Given the description of an element on the screen output the (x, y) to click on. 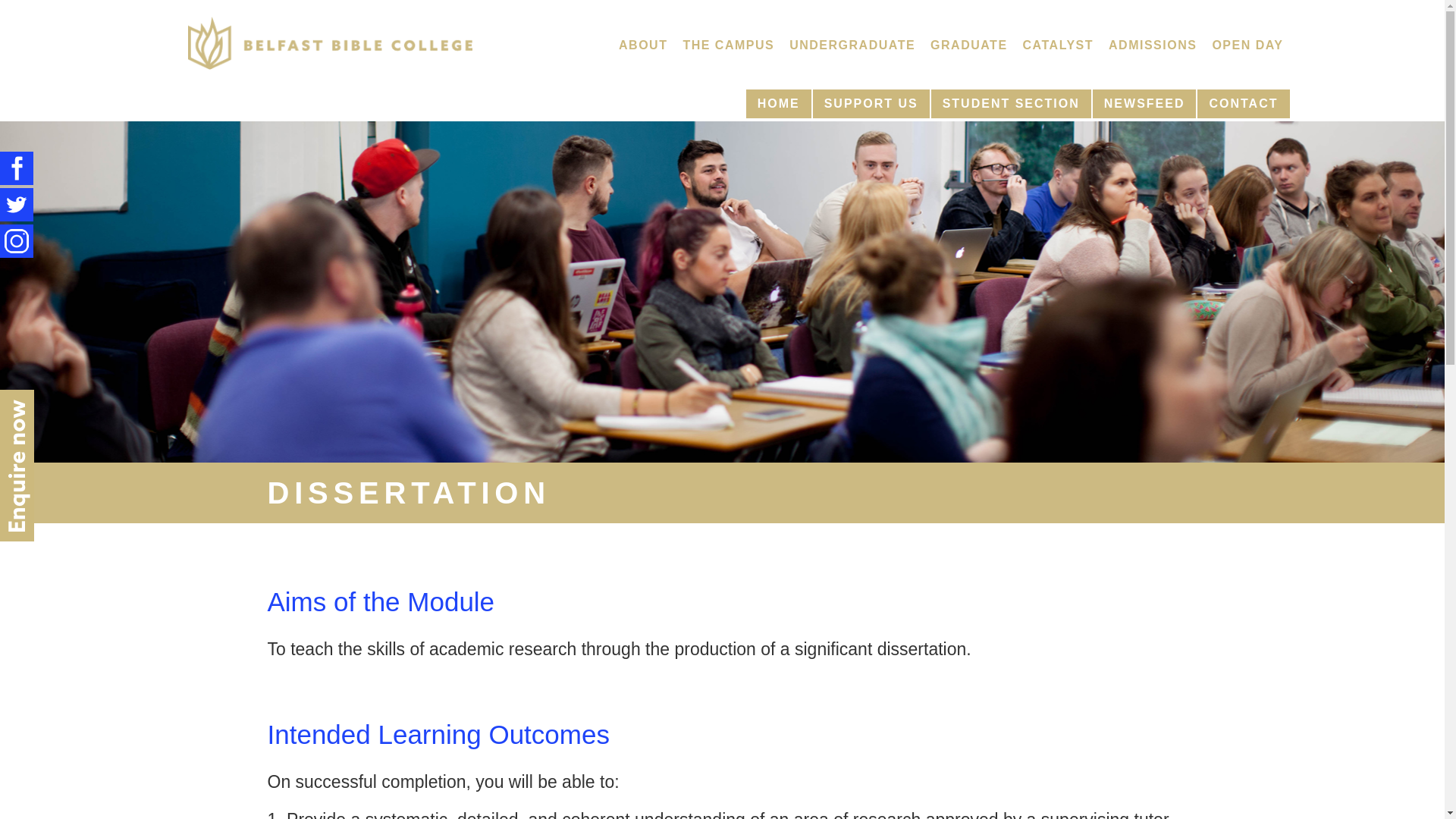
NEWSFEED (1144, 103)
CONTACT (1242, 103)
ABOUT (643, 45)
HOME (777, 103)
UNDERGRADUATE (852, 45)
STUDENT SECTION (1010, 103)
GRADUATE (968, 45)
THE CAMPUS (728, 45)
CATALYST (1057, 45)
ADMISSIONS (1152, 45)
SUPPORT US (871, 103)
OPEN DAY (1247, 45)
